Given the description of an element on the screen output the (x, y) to click on. 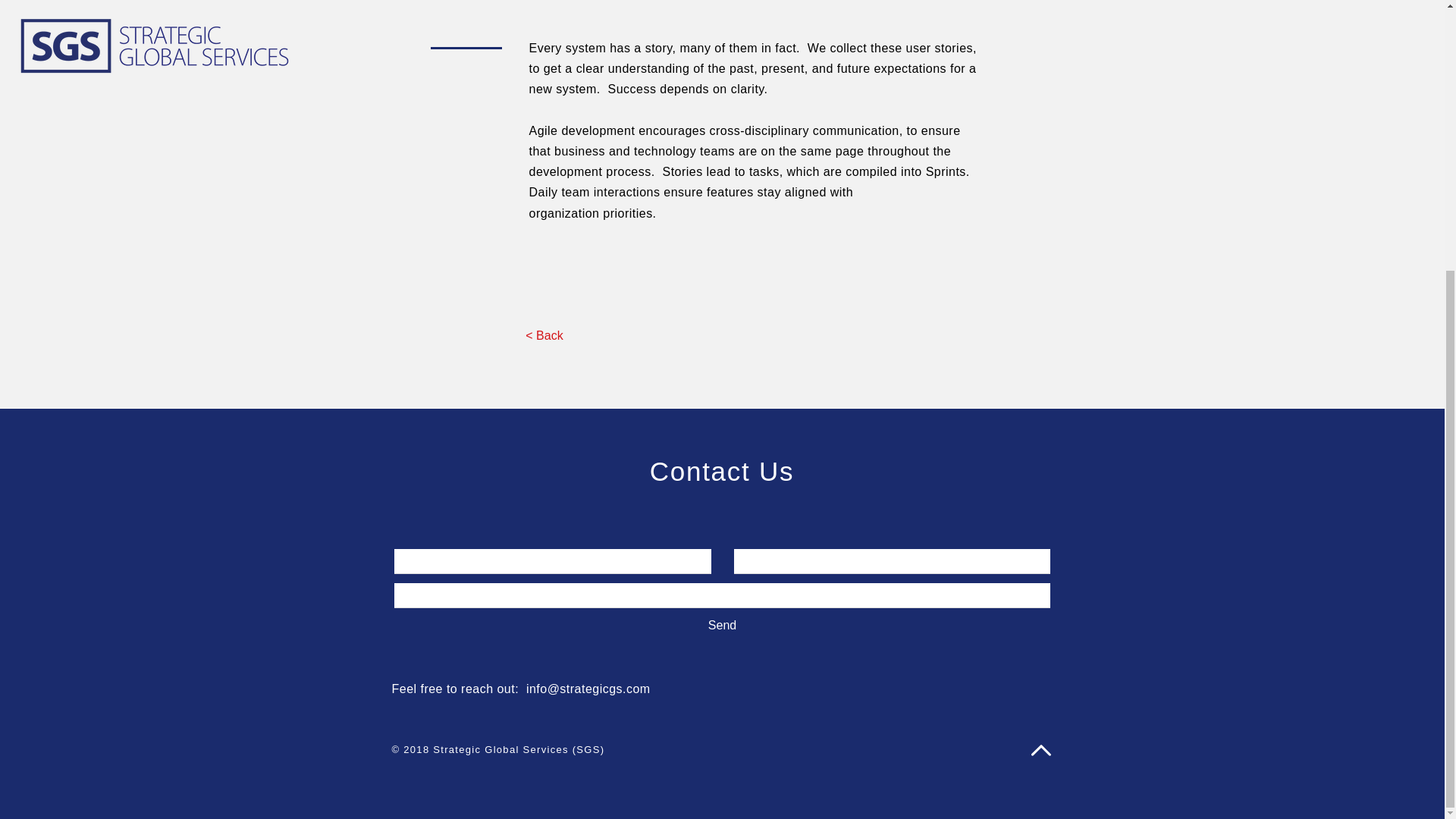
Send (721, 625)
